Given the description of an element on the screen output the (x, y) to click on. 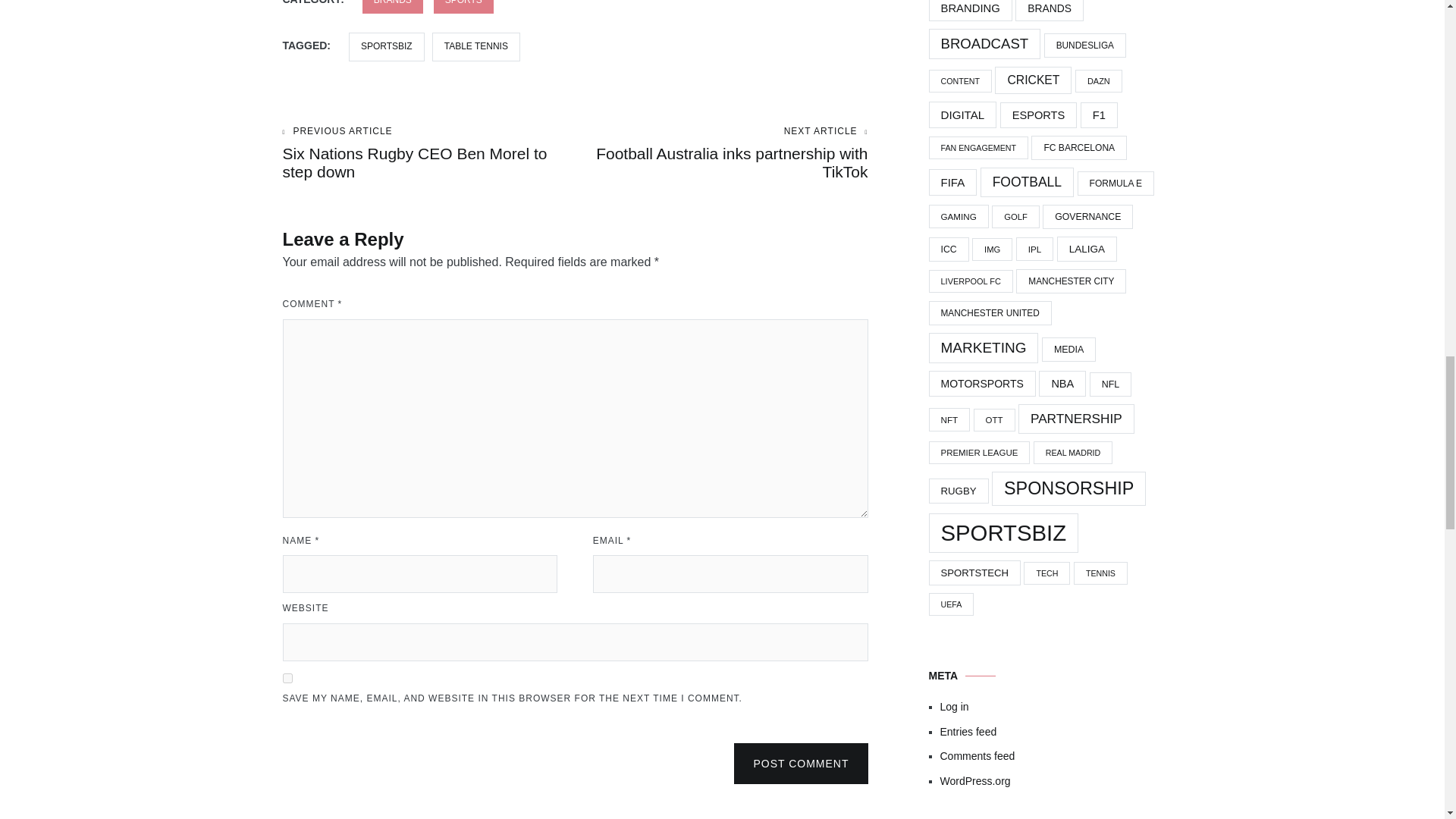
SPORTSBIZ (387, 46)
SPORTS (721, 153)
yes (463, 6)
POST COMMENT (287, 678)
BRANDS (800, 762)
TABLE TENNIS (392, 6)
